Given the description of an element on the screen output the (x, y) to click on. 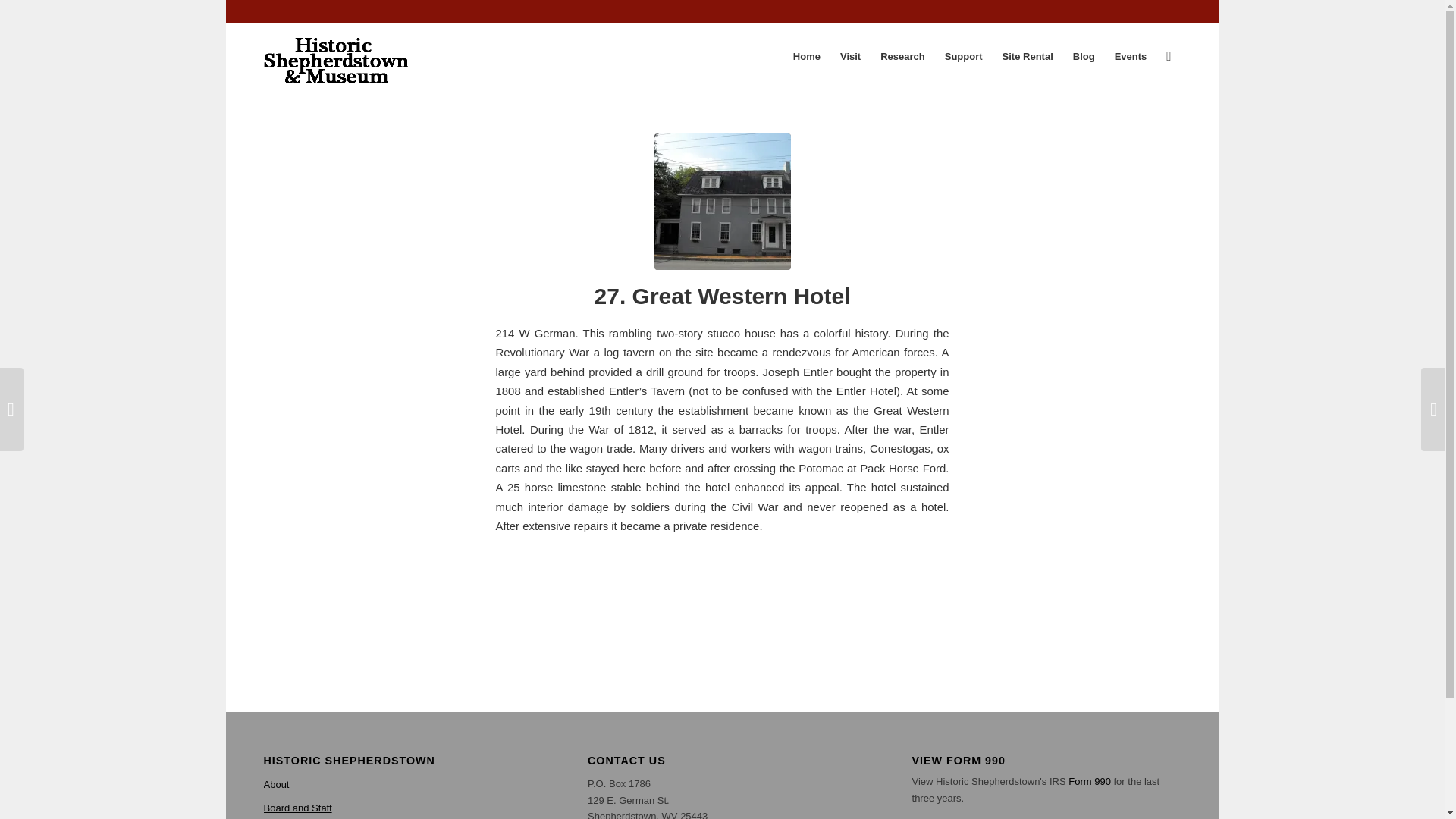
HSC logo (336, 56)
Great Westrn Hotel (721, 201)
Research (902, 56)
